Given the description of an element on the screen output the (x, y) to click on. 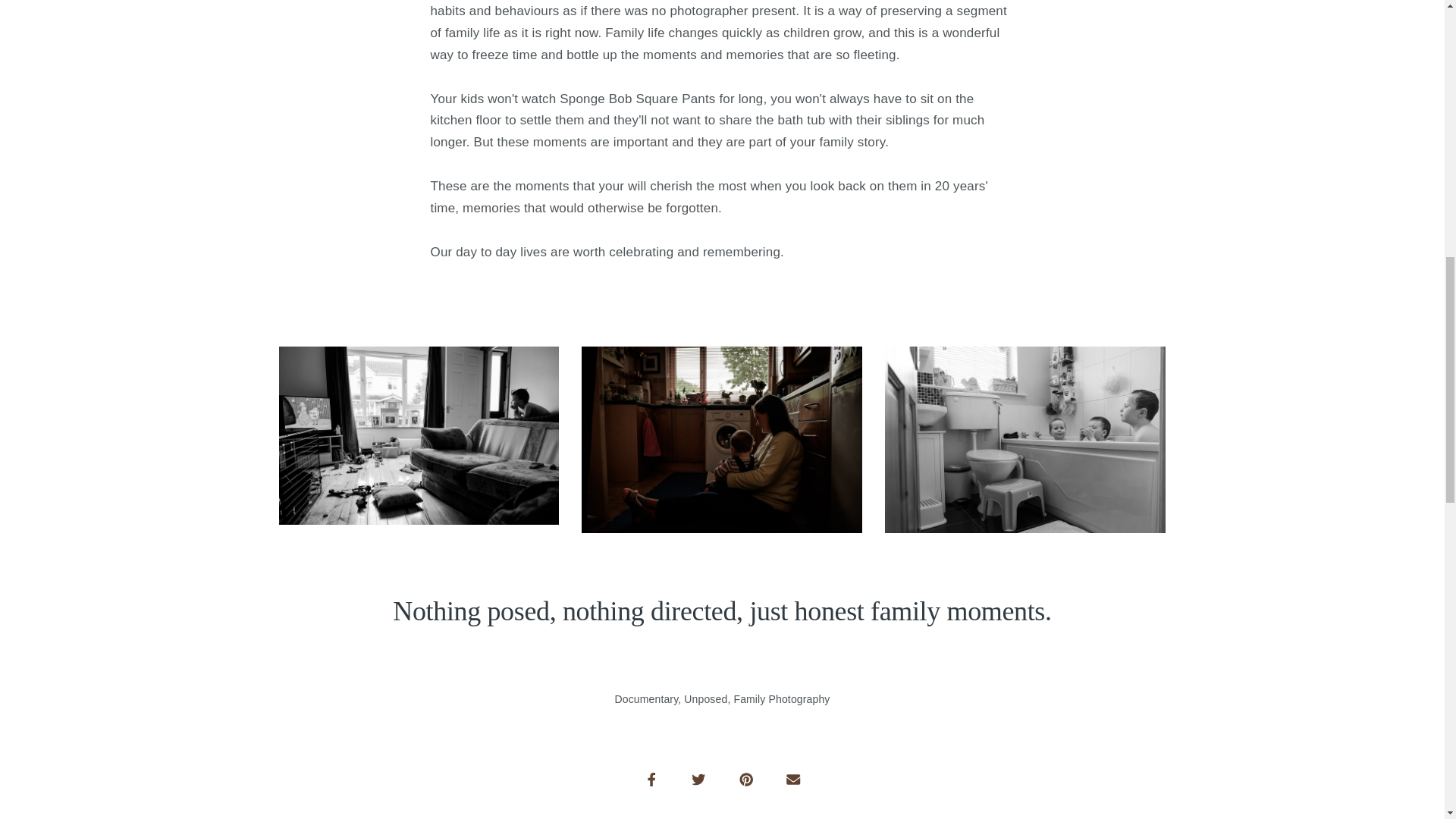
Documentary (646, 698)
Family Photography (781, 698)
Unposed (705, 698)
